Given the description of an element on the screen output the (x, y) to click on. 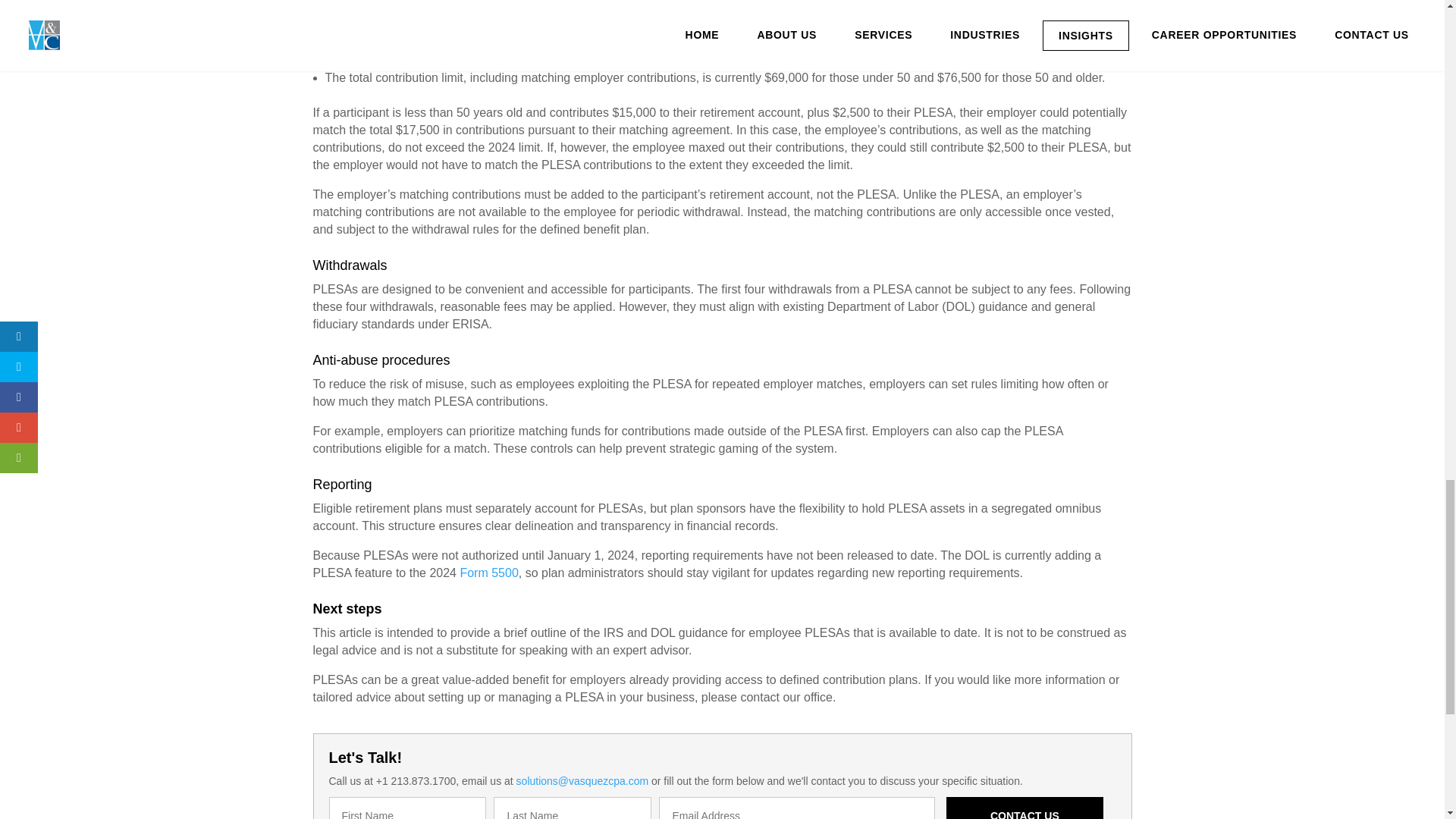
CONTACT US (1024, 807)
Form 5500 (489, 572)
